Given the description of an element on the screen output the (x, y) to click on. 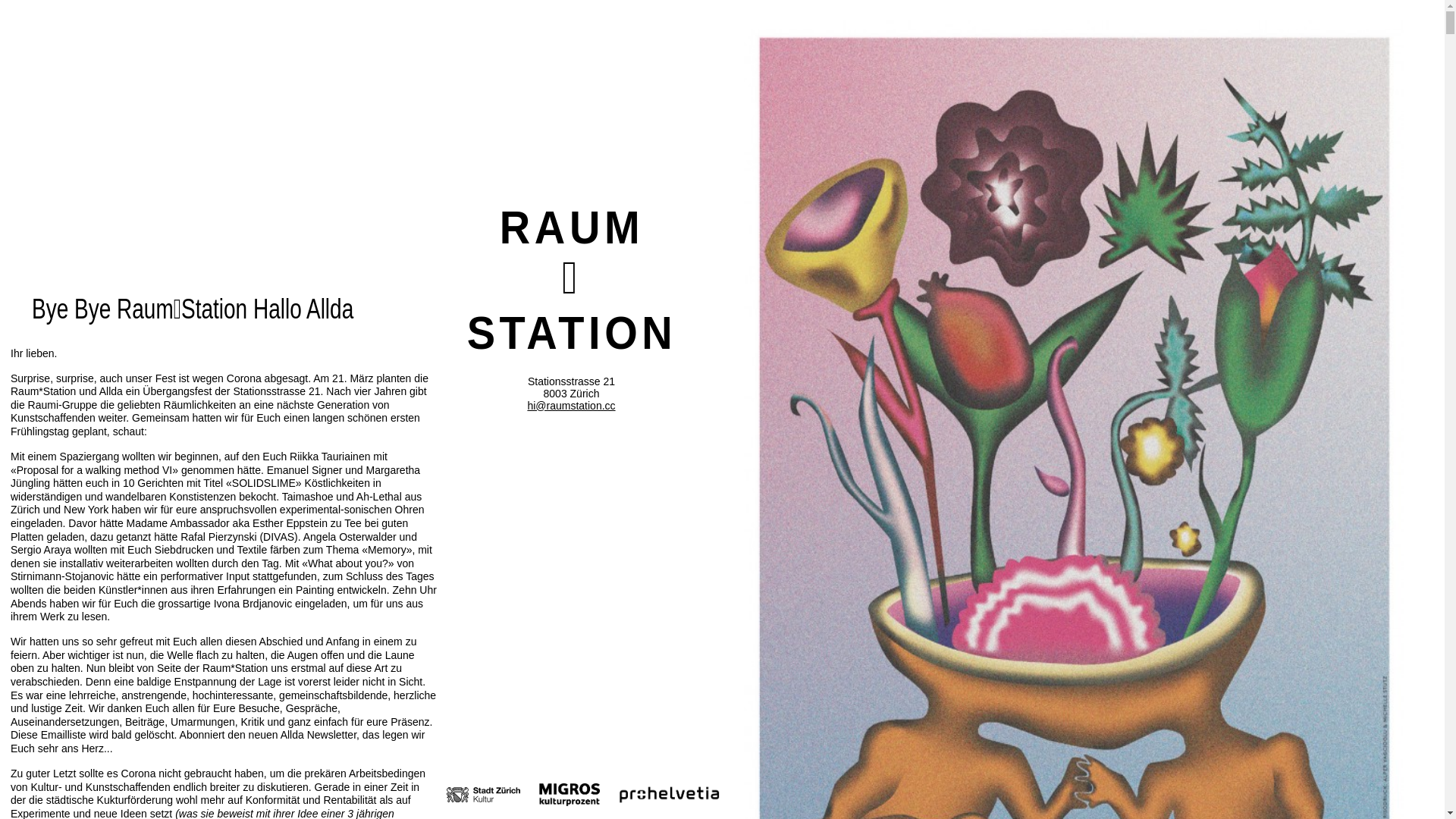
hi@raumstation.cc Element type: text (571, 405)
